Given the description of an element on the screen output the (x, y) to click on. 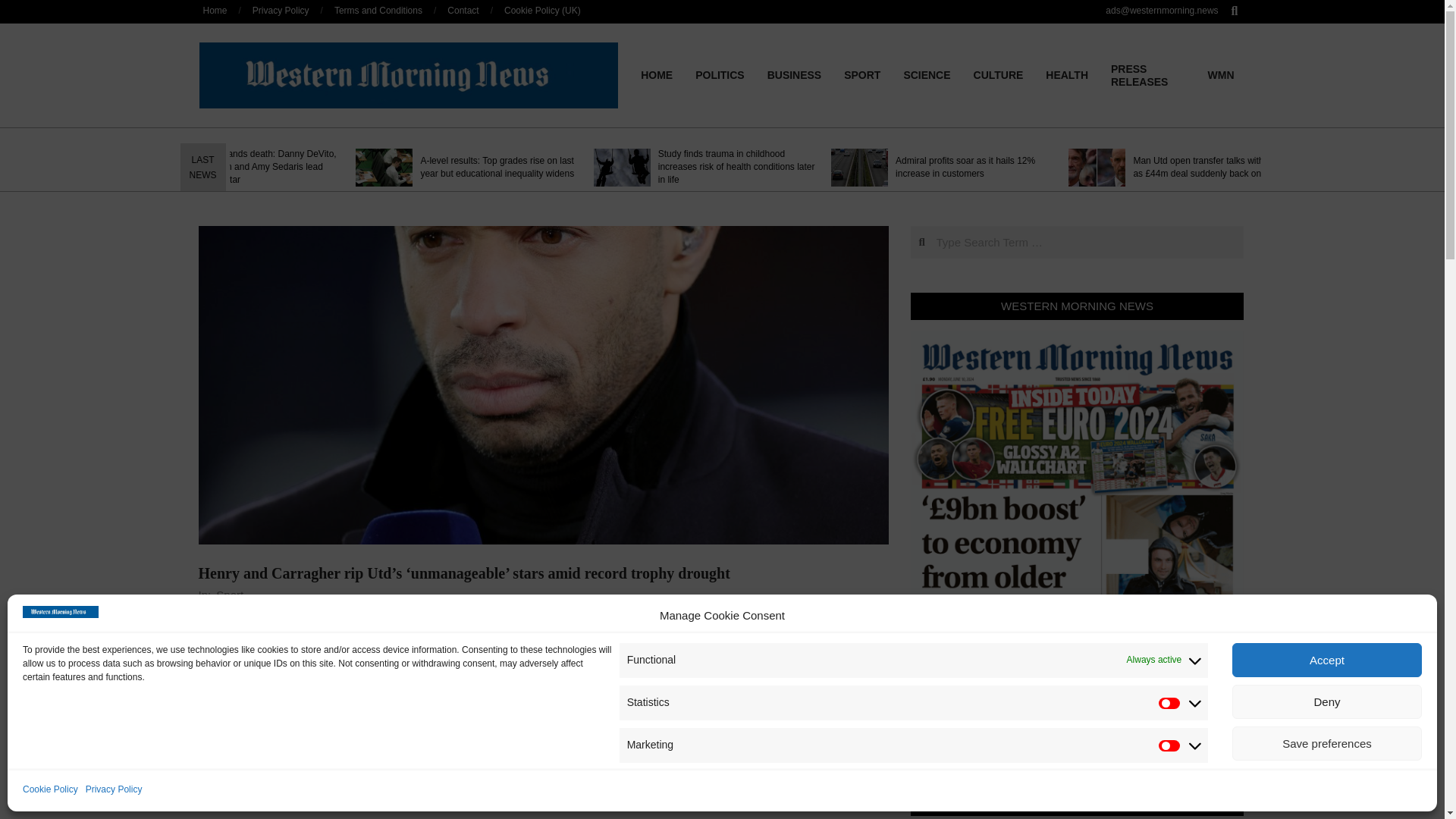
Deny (1326, 701)
Privacy Policy (279, 9)
HEALTH (1066, 74)
WMN (1221, 74)
Privacy Policy (113, 790)
Search (21, 8)
SPORT (861, 74)
